Given the description of an element on the screen output the (x, y) to click on. 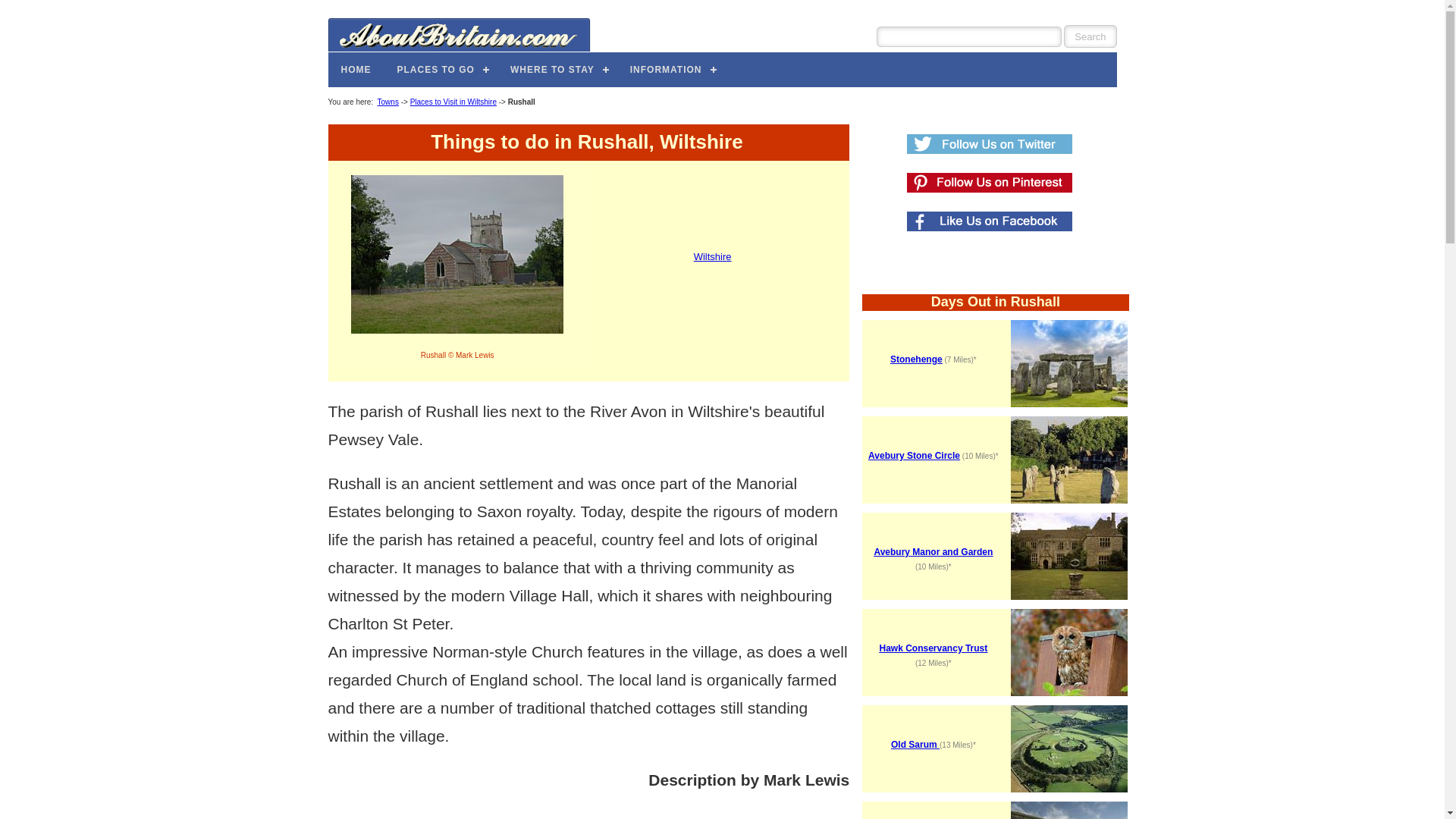
HOME (355, 68)
PLACES TO GO (440, 68)
WHERE TO STAY (557, 68)
Search (1090, 36)
Search (1090, 36)
